Given the description of an element on the screen output the (x, y) to click on. 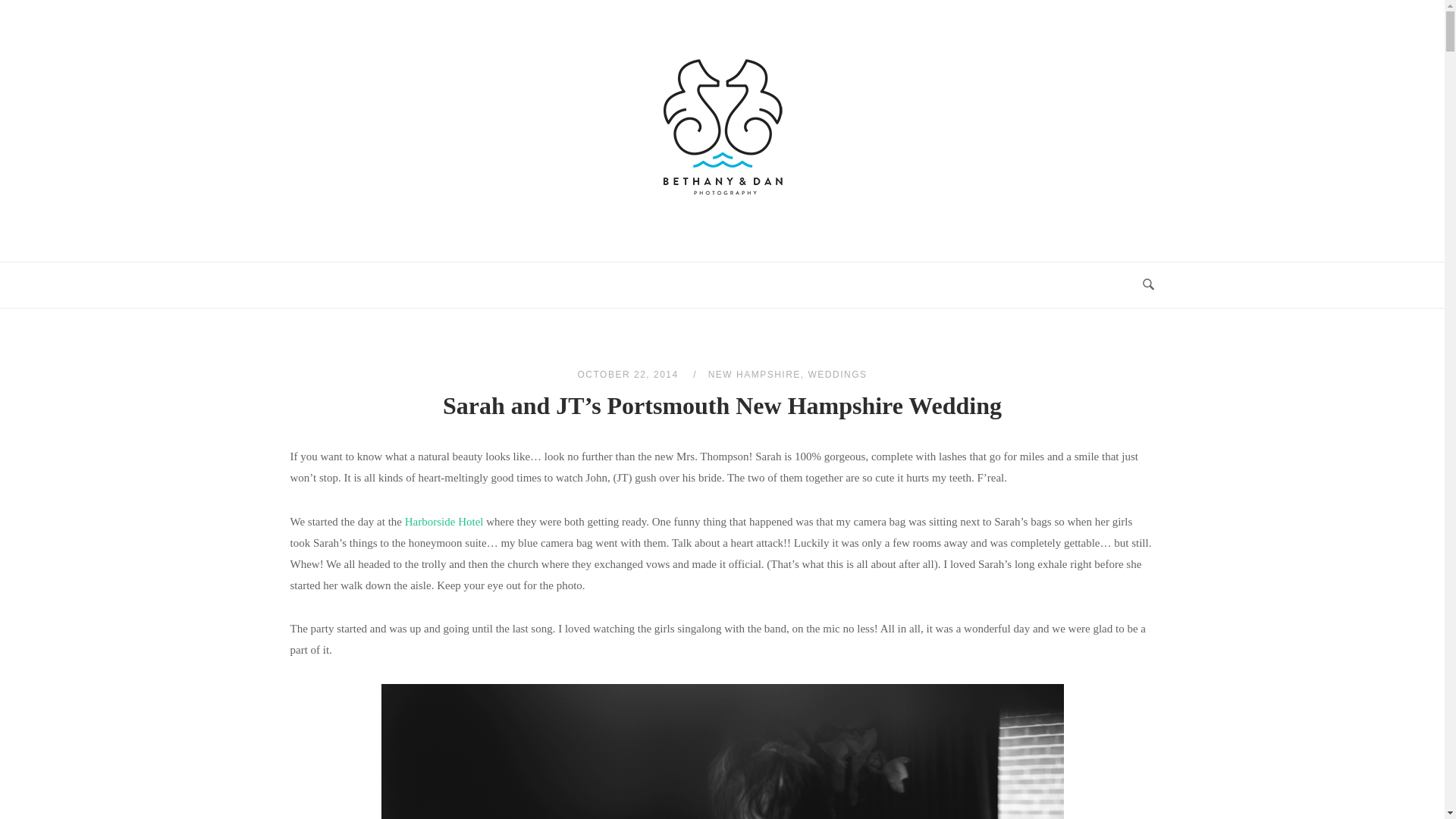
WEDDINGS (837, 374)
Harborside Hotel (443, 521)
NEW HAMPSHIRE (753, 374)
Home (722, 204)
